Given the description of an element on the screen output the (x, y) to click on. 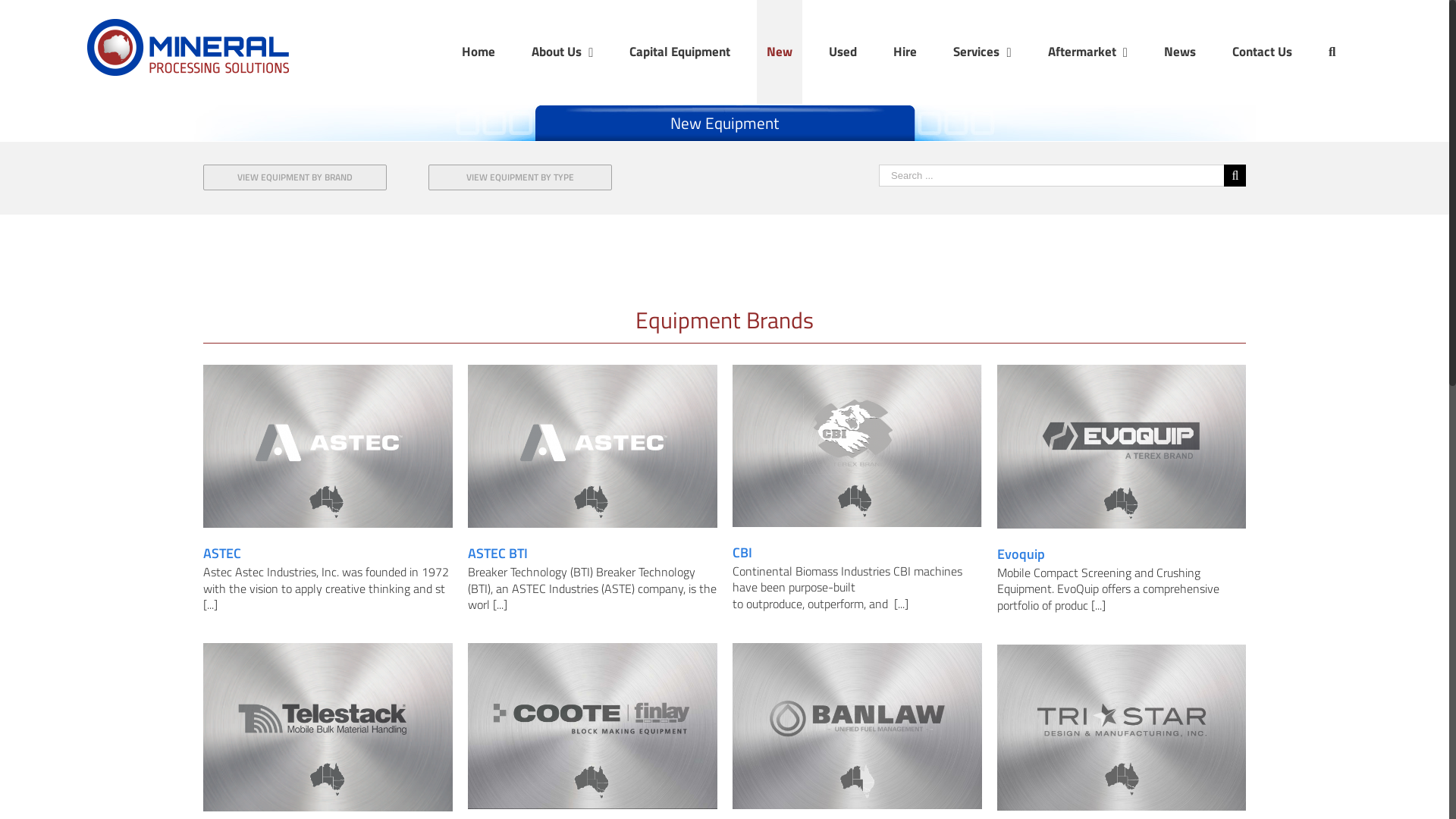
New Element type: text (779, 51)
Aftermarket Element type: text (1087, 51)
ASTEC BTI Element type: text (497, 552)
Home Element type: text (478, 51)
Search Element type: hover (1331, 51)
News Element type: text (1179, 51)
VIEW EQUIPMENT BY TYPE Element type: text (519, 177)
Contact Us Element type: text (1262, 51)
Hire Element type: text (904, 51)
Evoquip Element type: text (1020, 553)
CBI Element type: text (742, 552)
ASTEC Element type: text (222, 552)
Capital Equipment Element type: text (679, 51)
VIEW EQUIPMENT BY BRAND Element type: text (294, 177)
Used Element type: text (842, 51)
Services Element type: text (981, 51)
About Us Element type: text (561, 51)
